Given the description of an element on the screen output the (x, y) to click on. 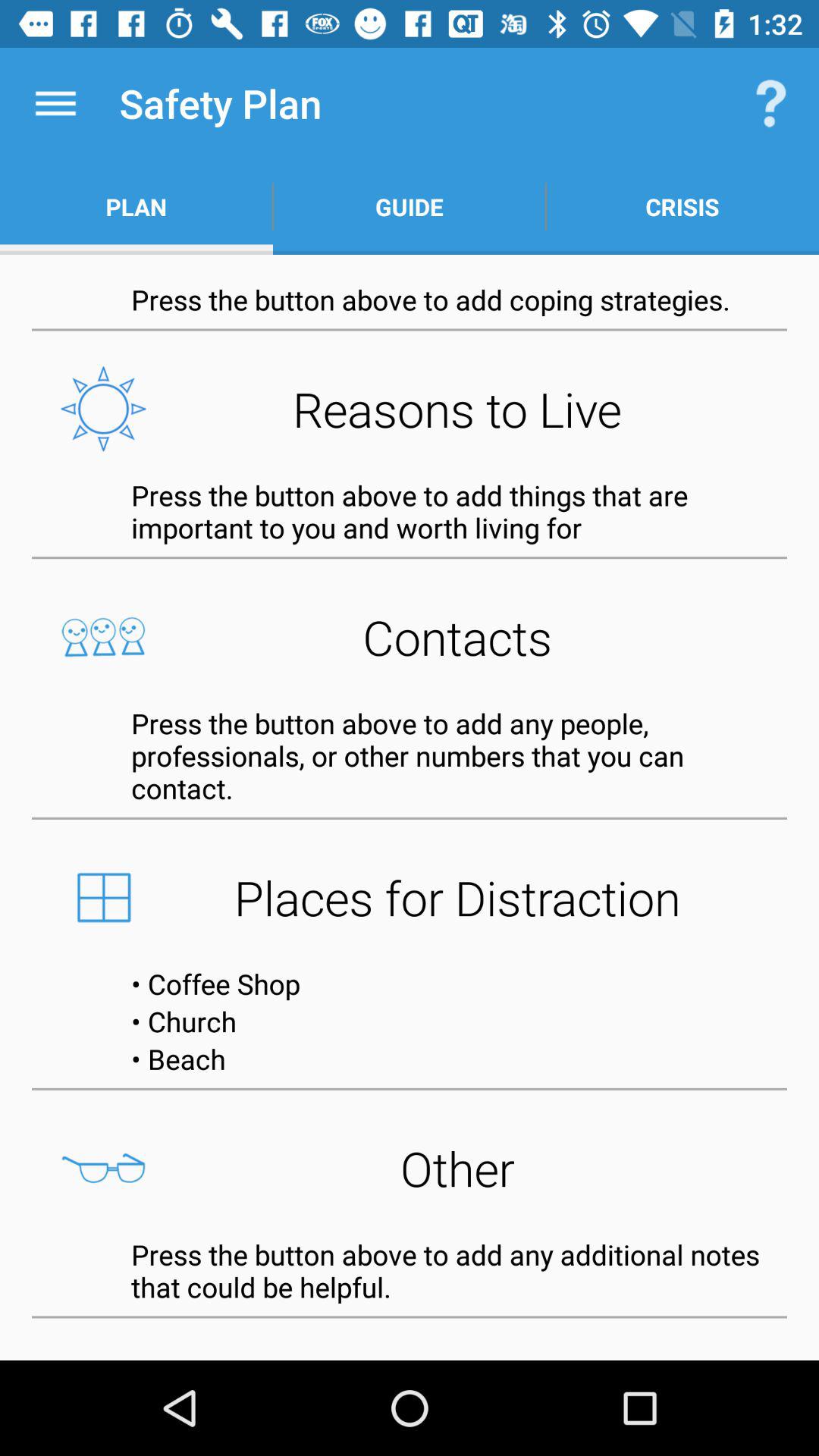
open the item above the plan item (55, 103)
